Given the description of an element on the screen output the (x, y) to click on. 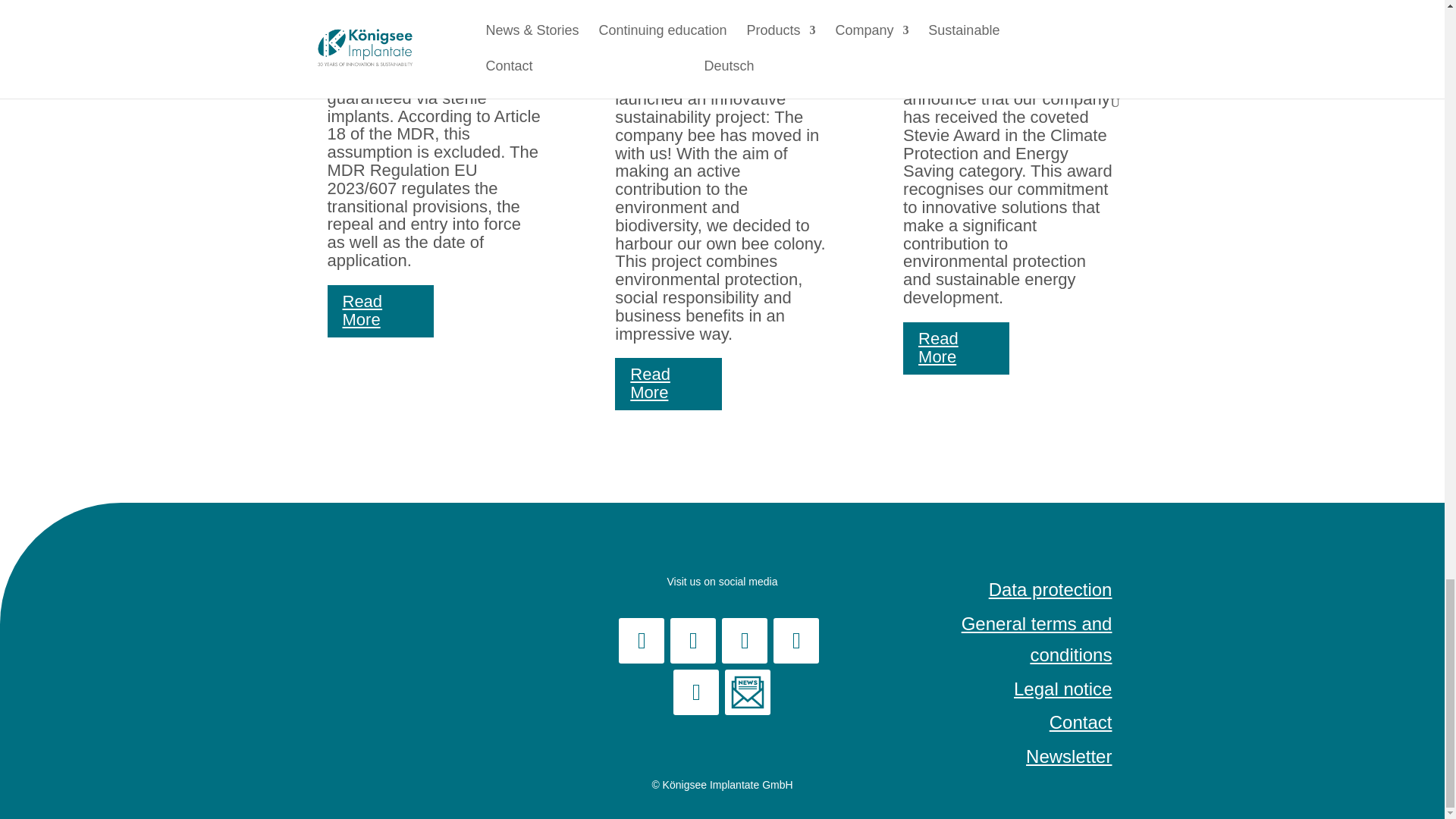
Follow on X (795, 640)
Follow on  (747, 691)
Follow on LinkedIn (692, 640)
Follow on Facebook (640, 640)
Follow on Instagram (695, 691)
Follow on Youtube (744, 640)
koenigsee-implantate-logo-weiss (434, 570)
